Given the description of an element on the screen output the (x, y) to click on. 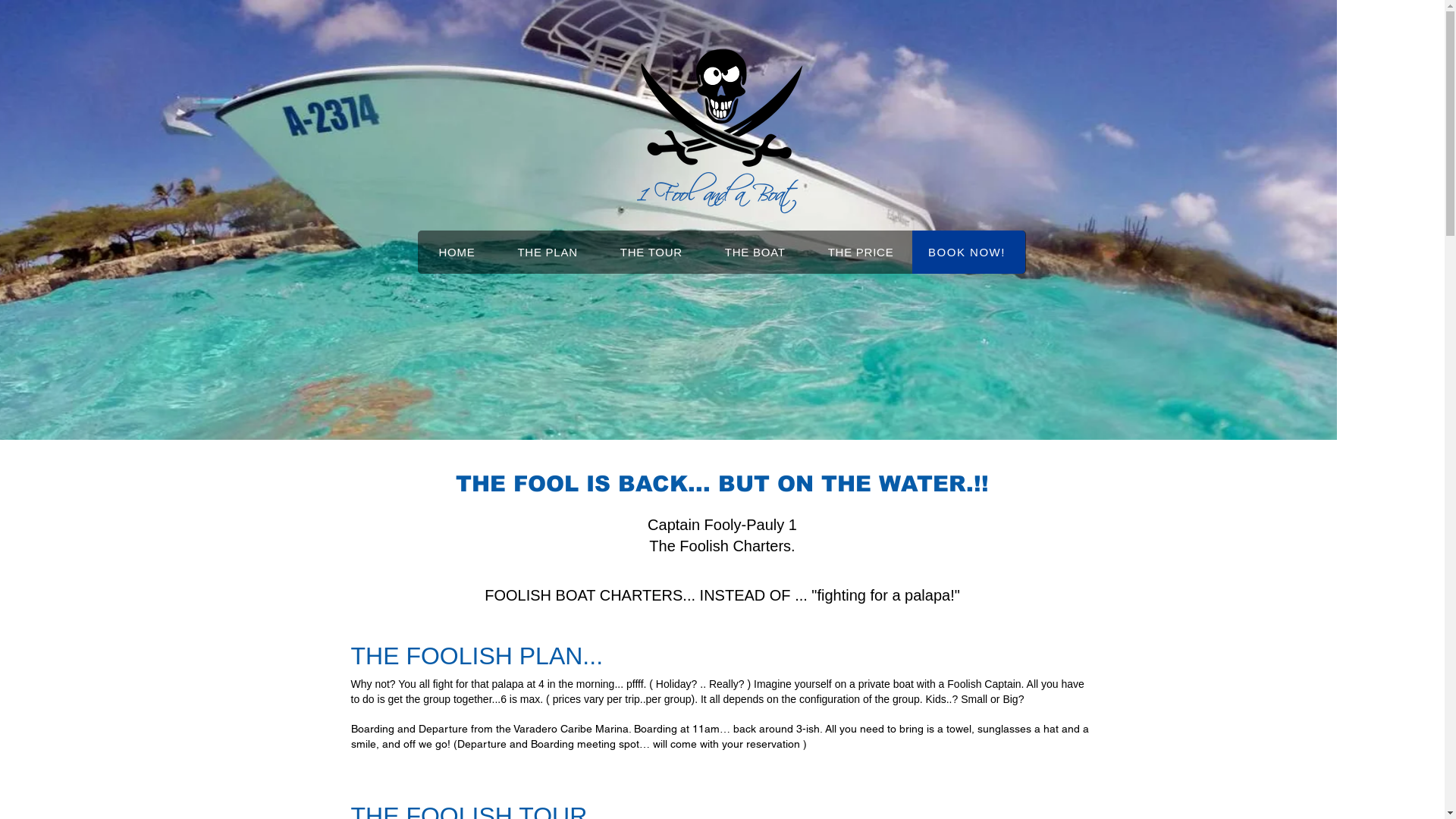
THE BOAT Element type: text (754, 251)
THE PRICE Element type: text (860, 251)
THE PLAN Element type: text (546, 251)
THE TOUR Element type: text (651, 251)
BOOK NOW! Element type: text (967, 251)
BOOK NOW Element type: text (969, 251)
HOME Element type: text (456, 251)
